Given the description of an element on the screen output the (x, y) to click on. 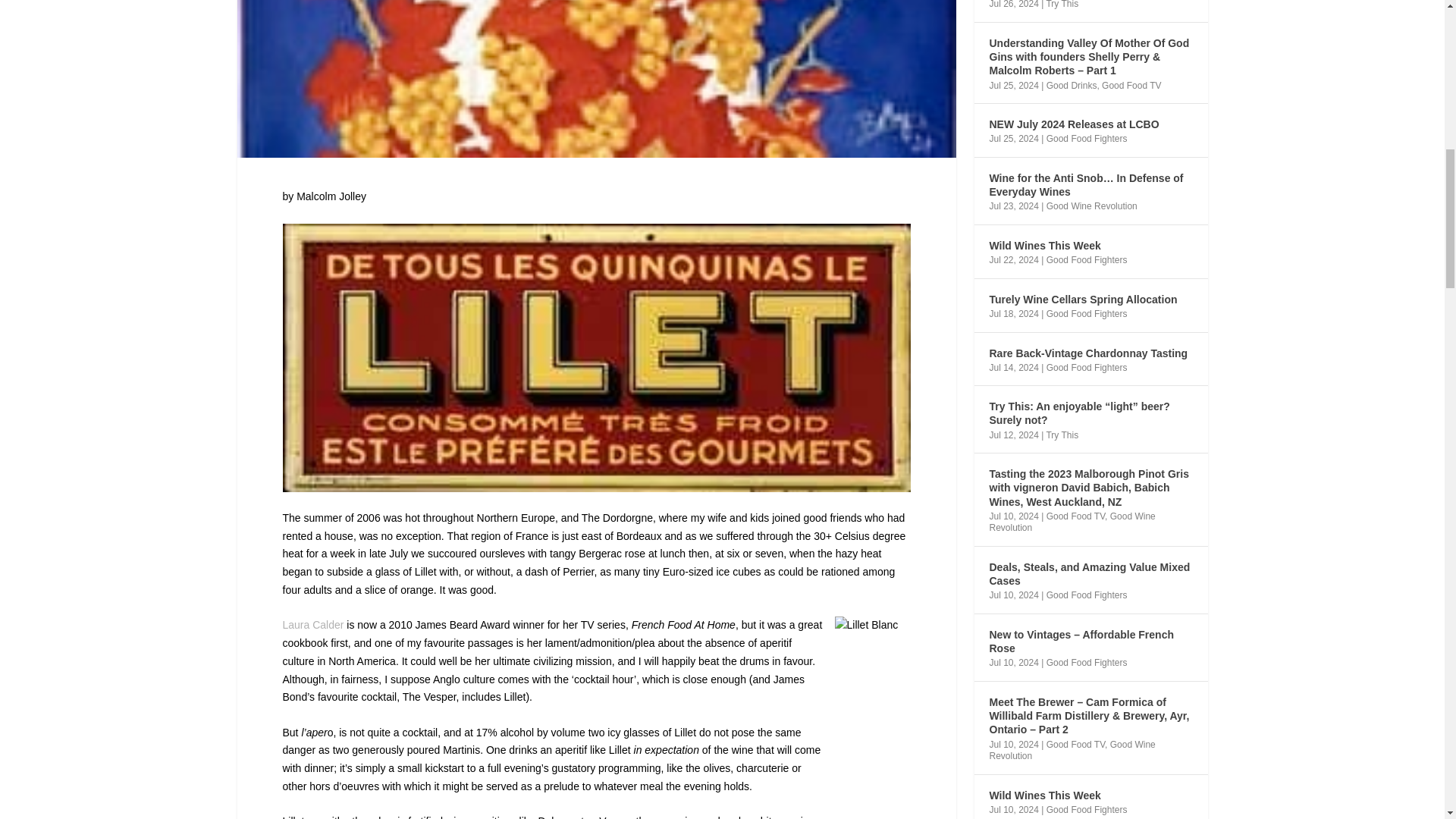
Laura Calder (312, 624)
